Given the description of an element on the screen output the (x, y) to click on. 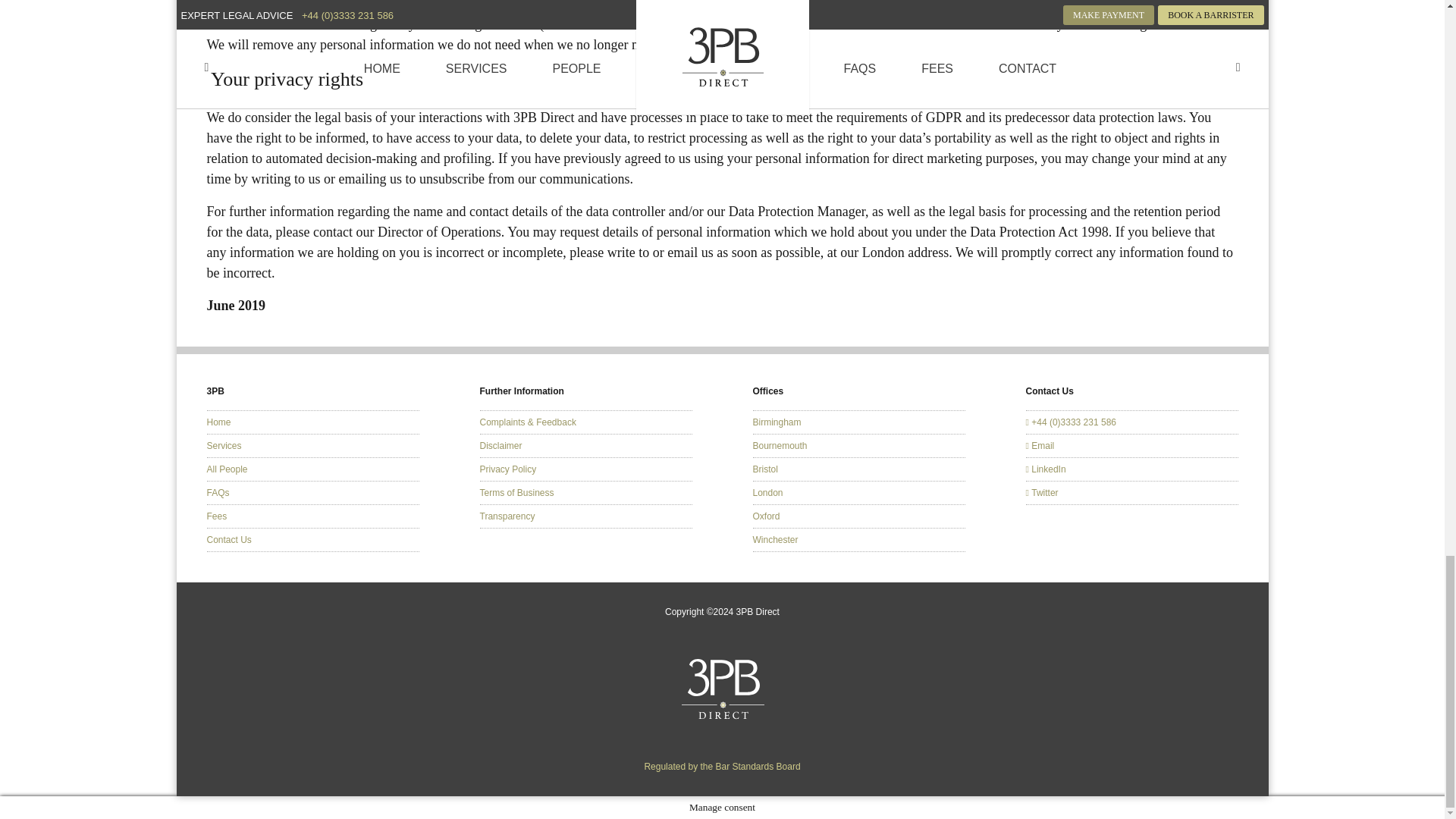
Transparency (506, 516)
Fees (216, 516)
Contact Us (228, 539)
Disclaimer (500, 445)
Services (223, 445)
Terms of Business (516, 492)
All People (226, 469)
Privacy Policy (507, 469)
Home (218, 421)
FAQs (217, 492)
